Given the description of an element on the screen output the (x, y) to click on. 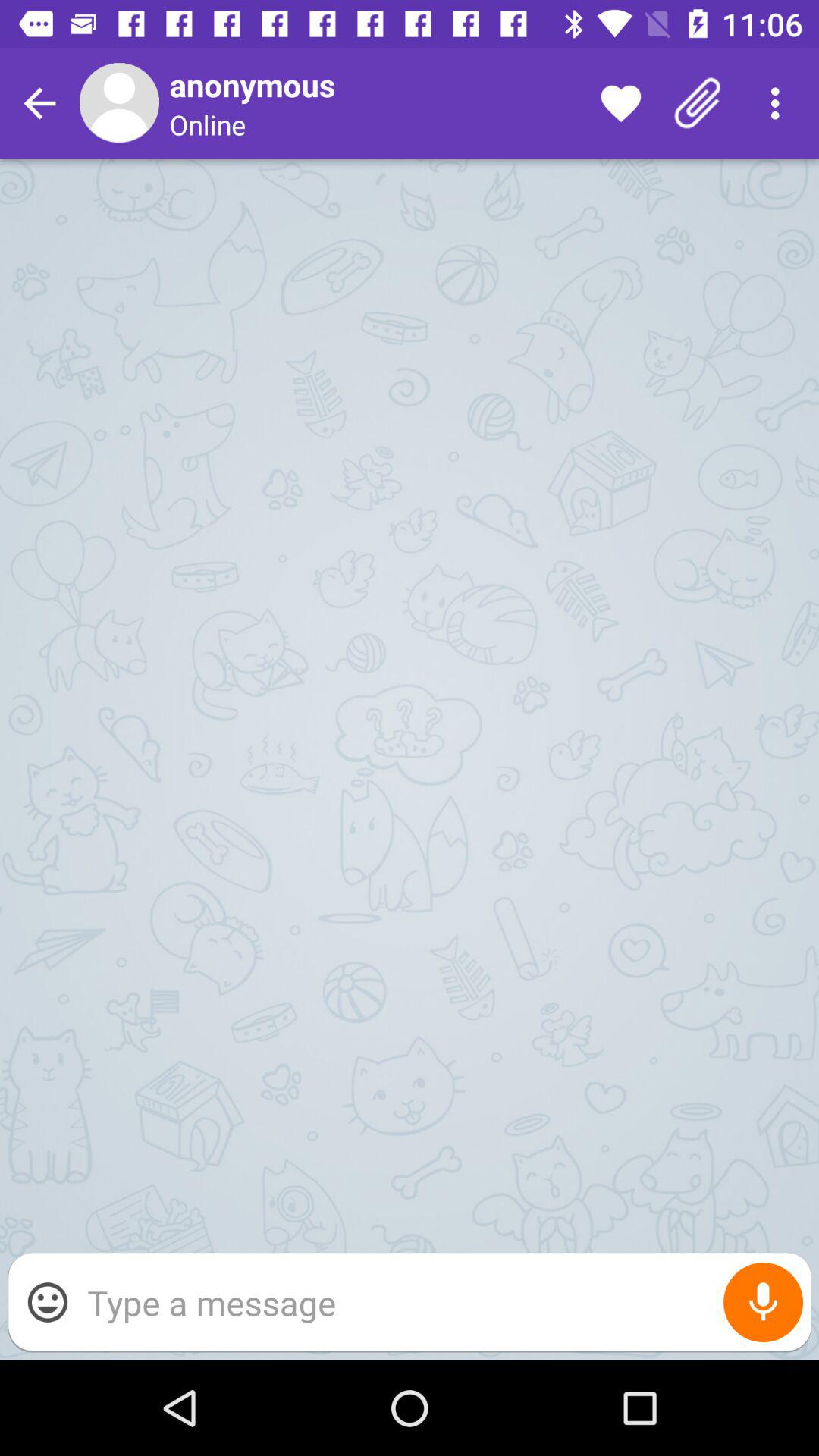
record the voice (763, 1302)
